Given the description of an element on the screen output the (x, y) to click on. 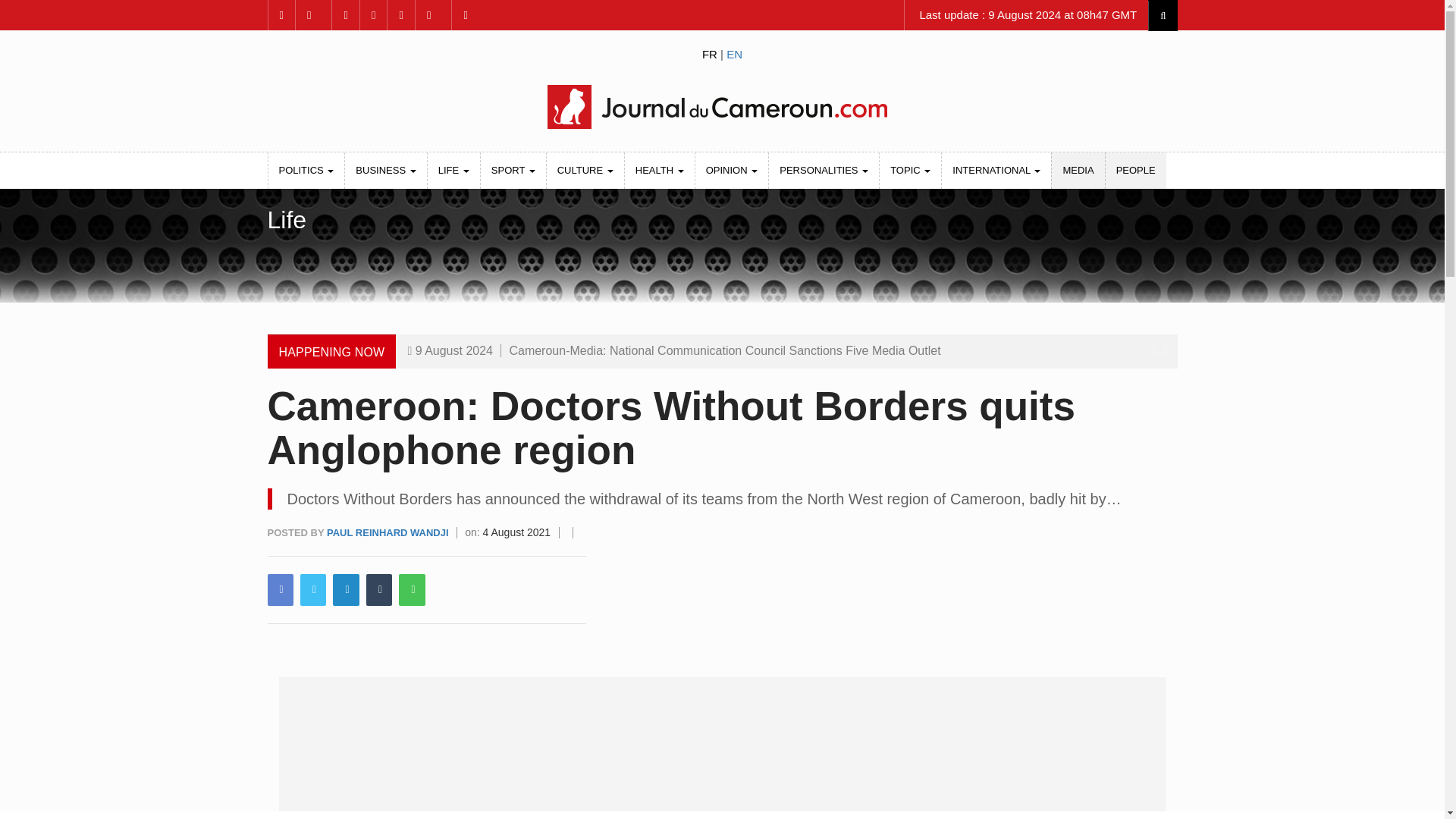
EN (734, 53)
FR (709, 53)
POLITICS (306, 170)
BUSINESS (385, 170)
Last update : 9 August 2024 at 08h47 GMT (1026, 15)
JDC (721, 106)
